Given the description of an element on the screen output the (x, y) to click on. 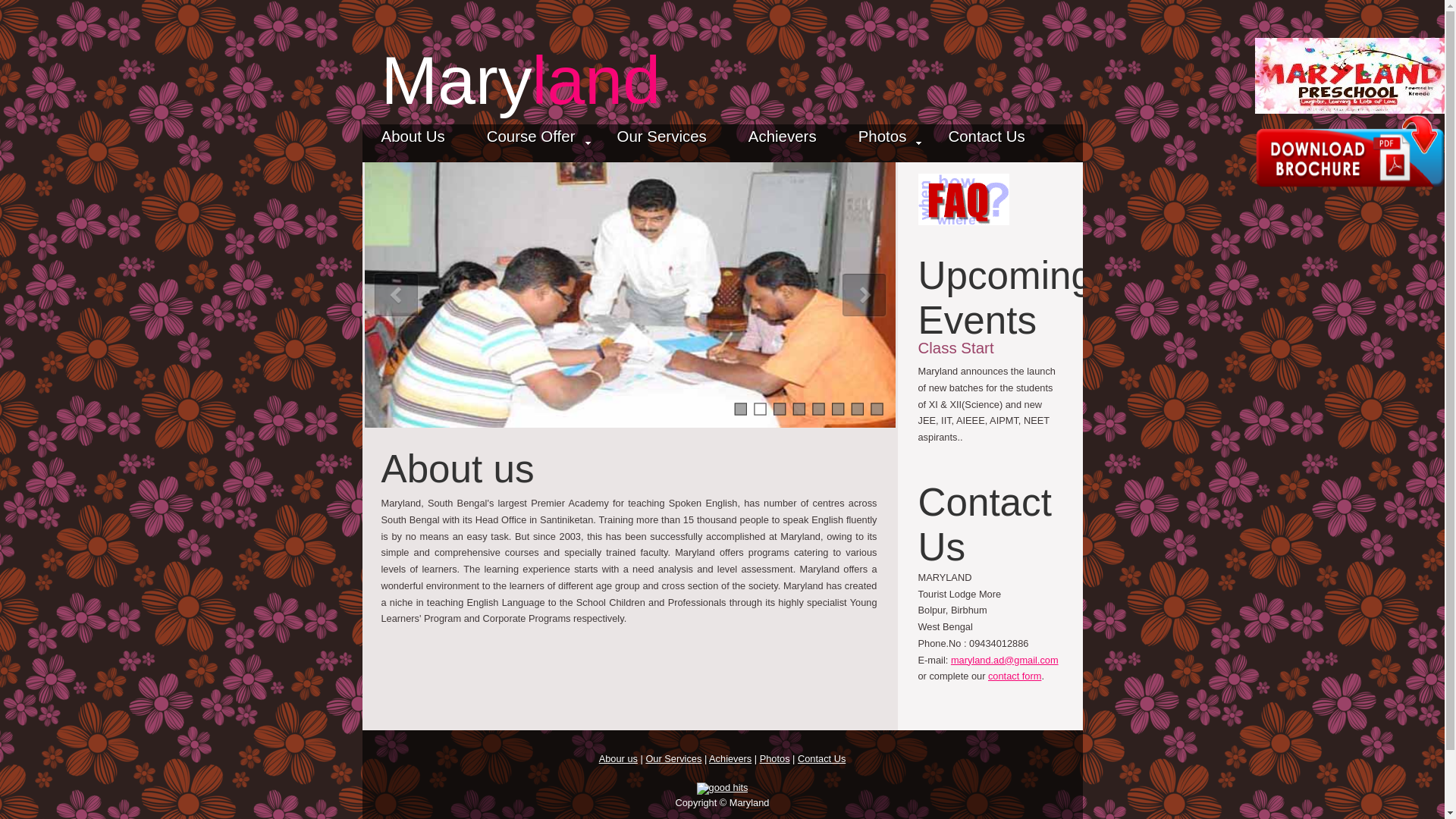
contact form (1014, 675)
Photos (775, 758)
Achievers (730, 758)
About Us (413, 141)
Abour us (617, 758)
Maryland (519, 79)
Photos (883, 141)
Achievers (782, 141)
Our Services (673, 758)
Contact Us (821, 758)
